Given the description of an element on the screen output the (x, y) to click on. 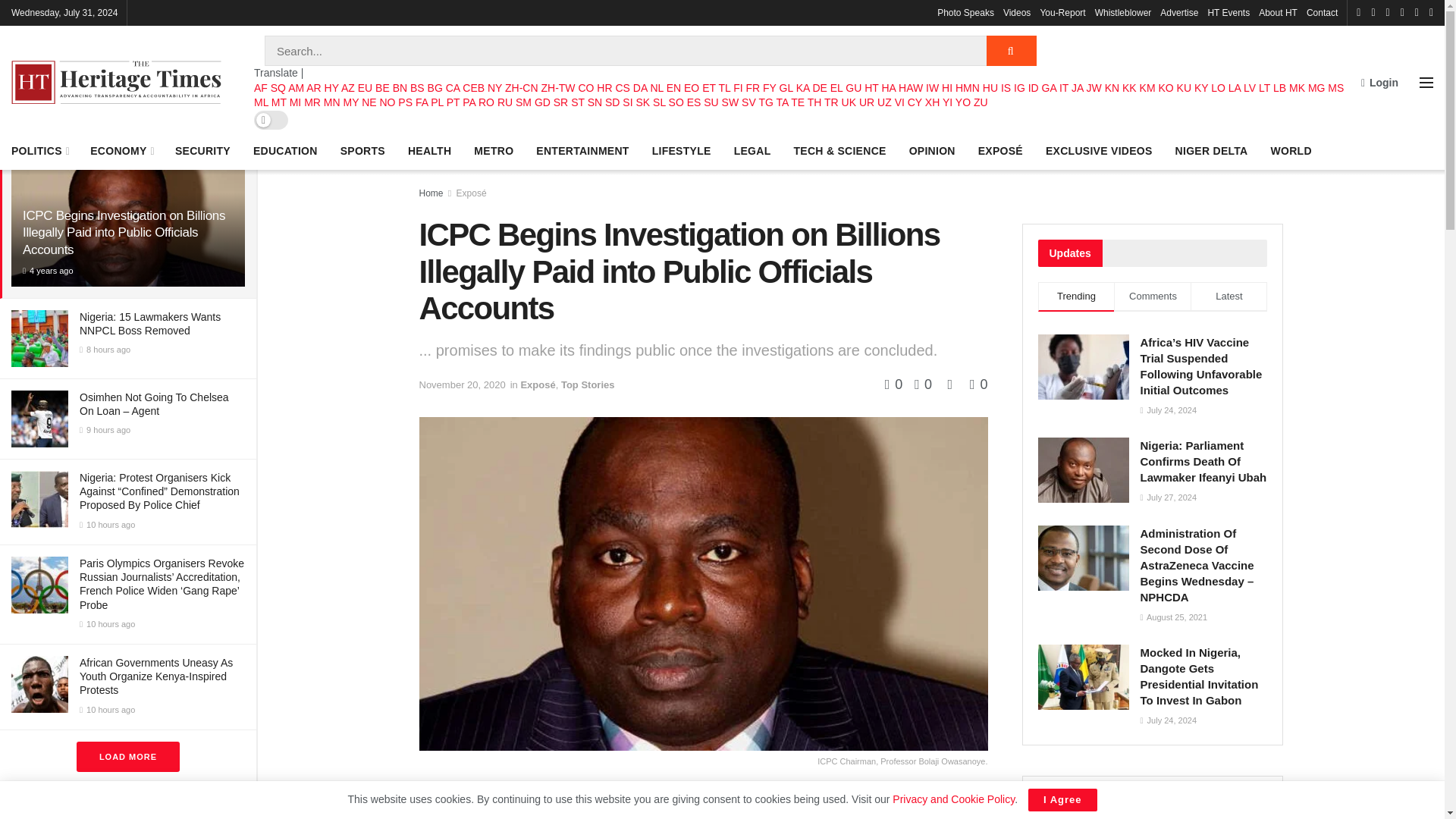
Bosnian (417, 87)
Armenian (331, 87)
Videos (1016, 12)
You-Report (1061, 12)
Cebuano (473, 87)
Whistleblower (1122, 12)
Amharic (296, 87)
HT Events (1228, 12)
Albanian (277, 87)
Azerbaijani (347, 87)
LOAD MORE (128, 757)
Belarusian (382, 87)
Afrikaans (260, 87)
